Given the description of an element on the screen output the (x, y) to click on. 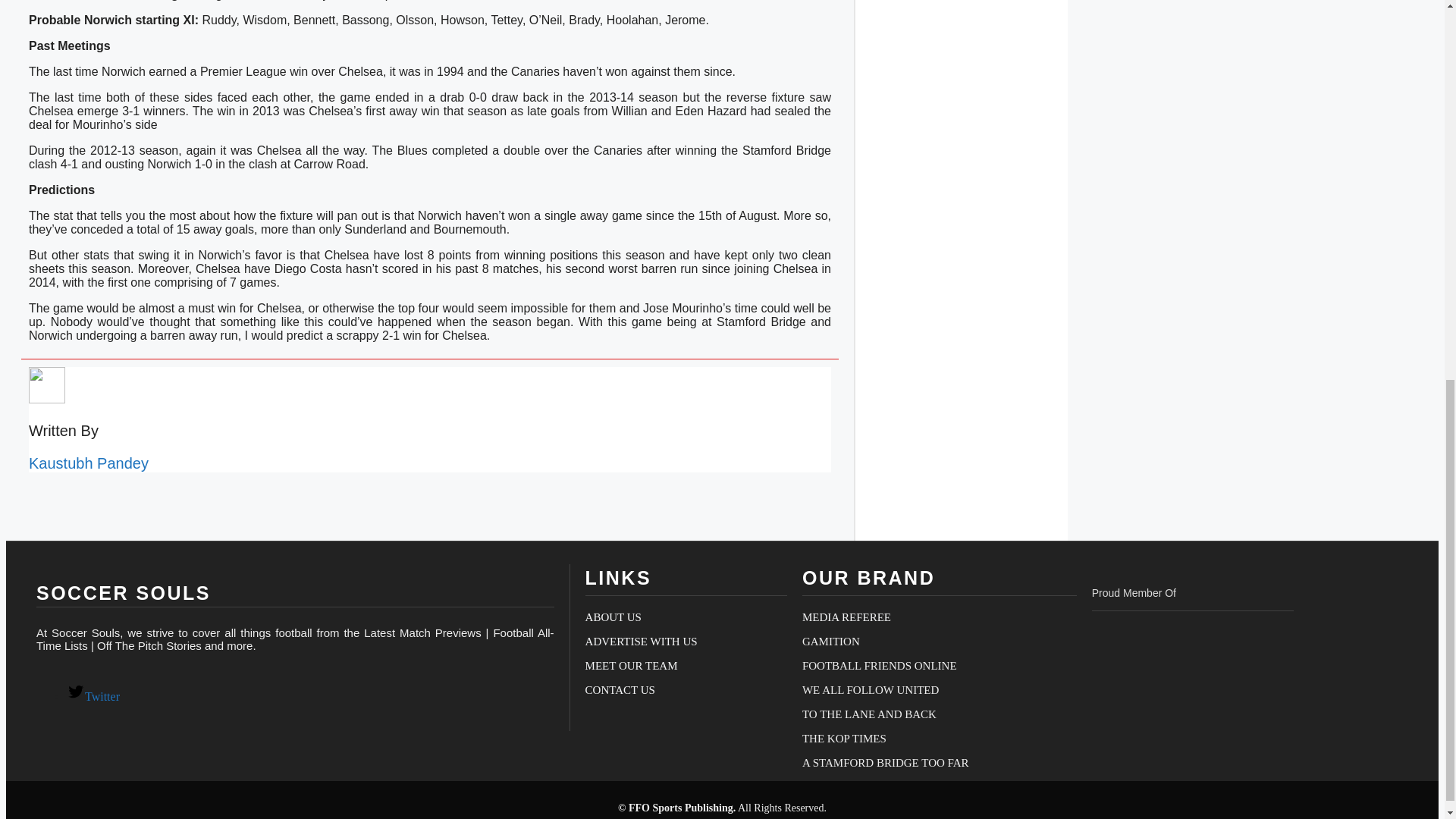
CONTACT US (620, 689)
THE KOP TIMES (844, 738)
MEET OUR TEAM (631, 665)
GAMITION (831, 641)
ABOUT US (613, 616)
A STAMFORD BRIDGE TOO FAR (885, 762)
TO THE LANE AND BACK (869, 714)
Twitter (92, 696)
MEDIA REFEREE (846, 616)
Kaustubh Pandey (88, 463)
